Given the description of an element on the screen output the (x, y) to click on. 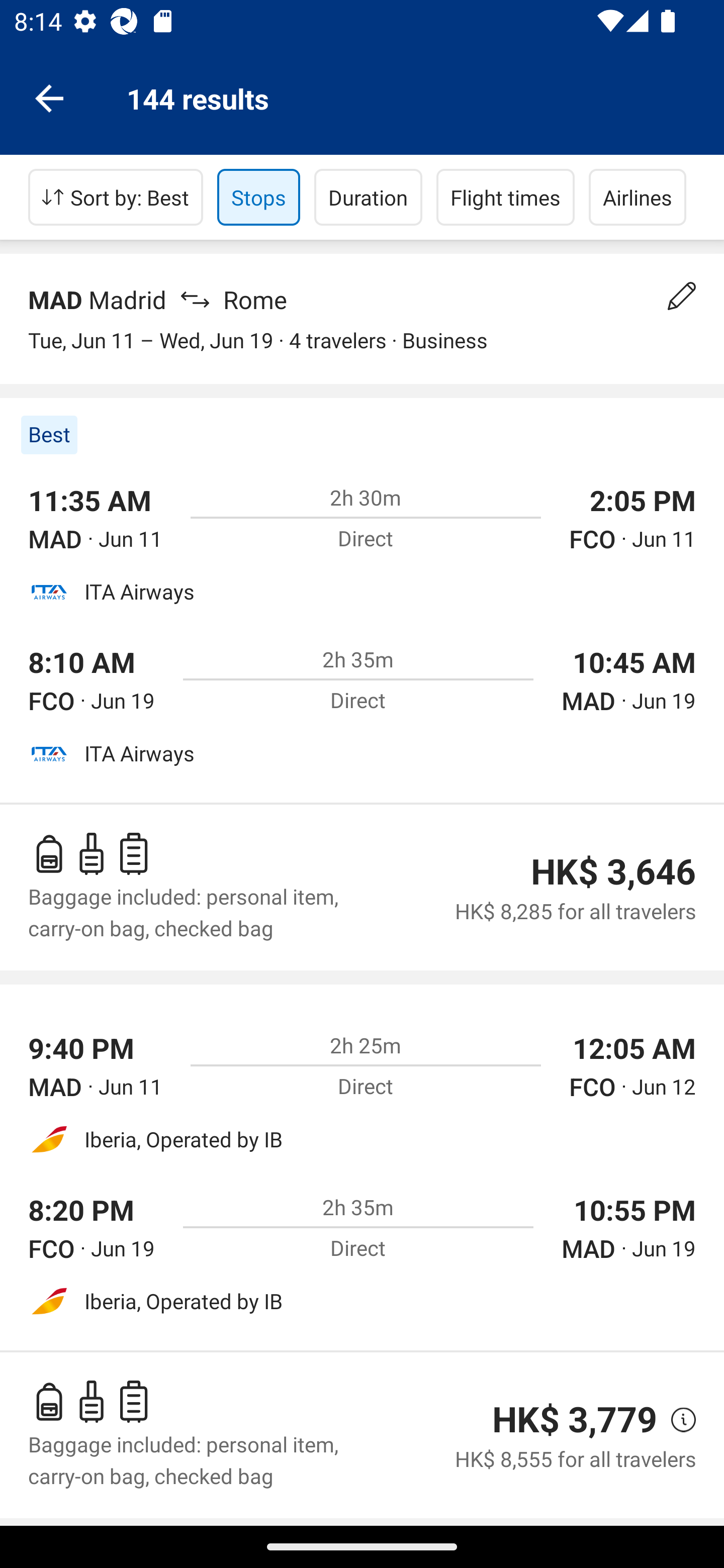
Navigate up (49, 97)
Sort by: Best (115, 197)
Stops (258, 197)
Duration (368, 197)
Flight times (505, 197)
Airlines (637, 197)
Change your search details (681, 296)
HK$ 3,646 (612, 871)
HK$ 3,779 (574, 1419)
view price details, opens a pop-up (676, 1419)
